Given the description of an element on the screen output the (x, y) to click on. 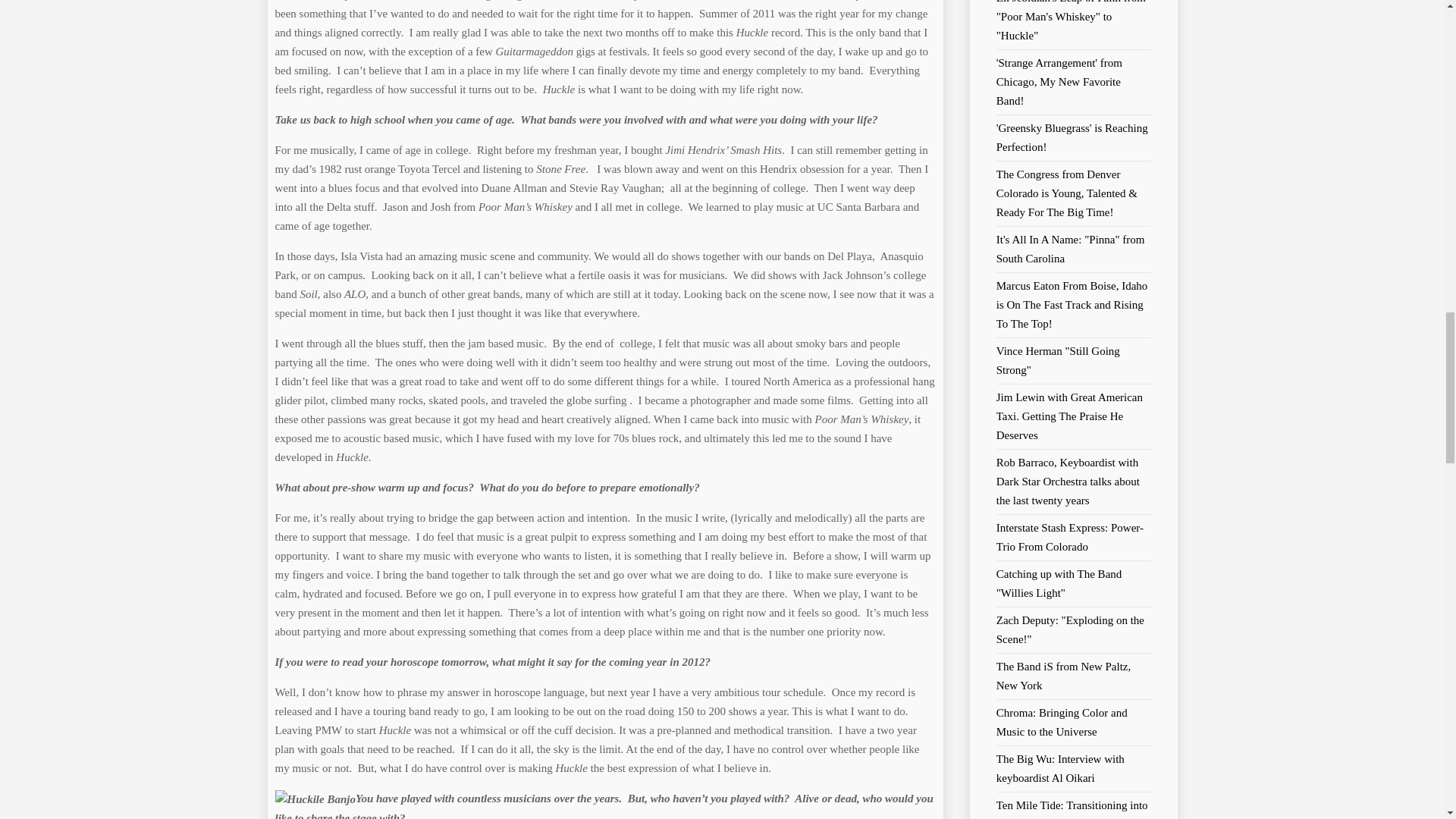
Huckle Banjo (315, 799)
'Strange Arrangement' from Chicago, My New Favorite Band! (1058, 81)
